Given the description of an element on the screen output the (x, y) to click on. 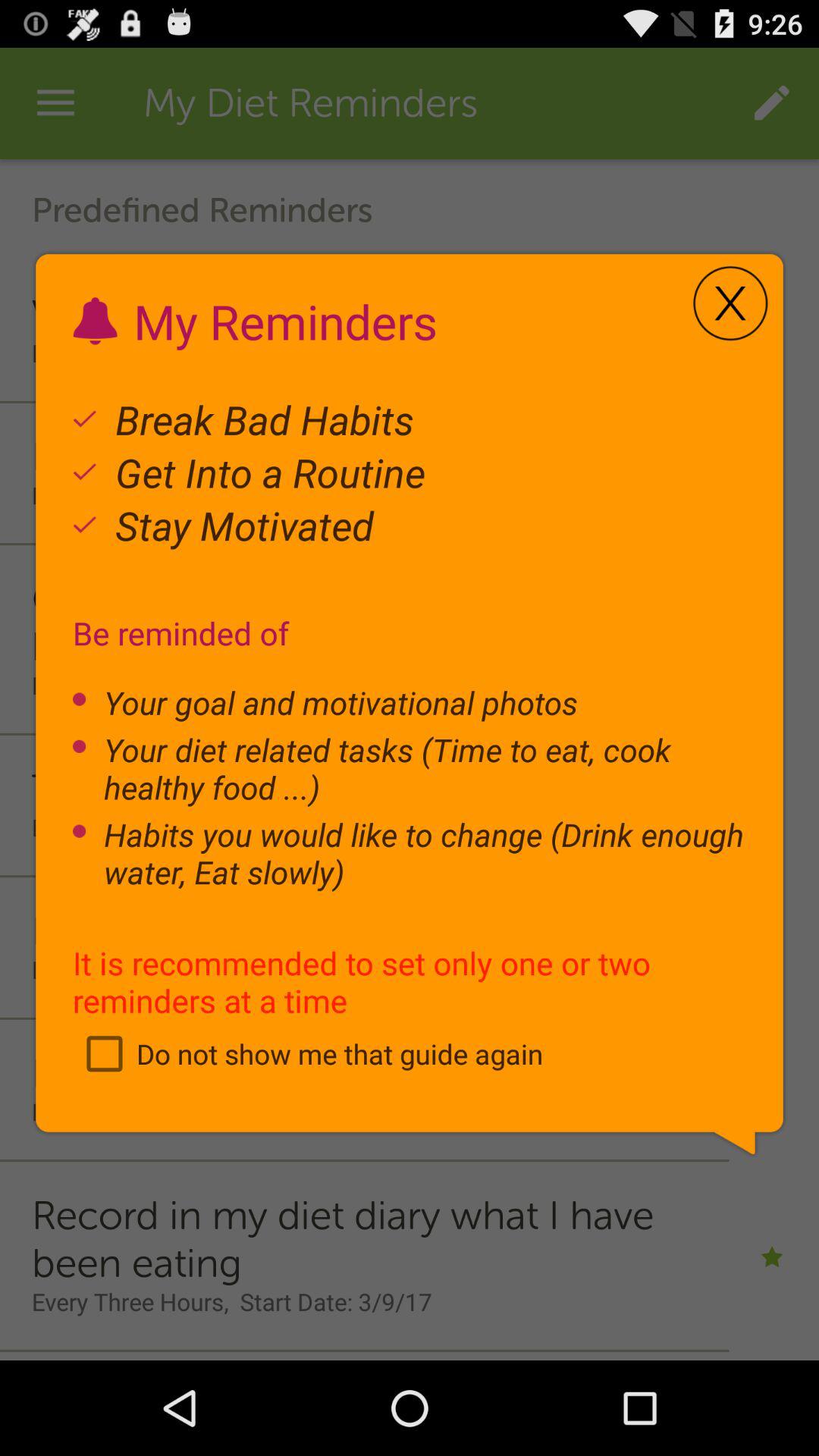
choose icon at the top right corner (730, 303)
